Given the description of an element on the screen output the (x, y) to click on. 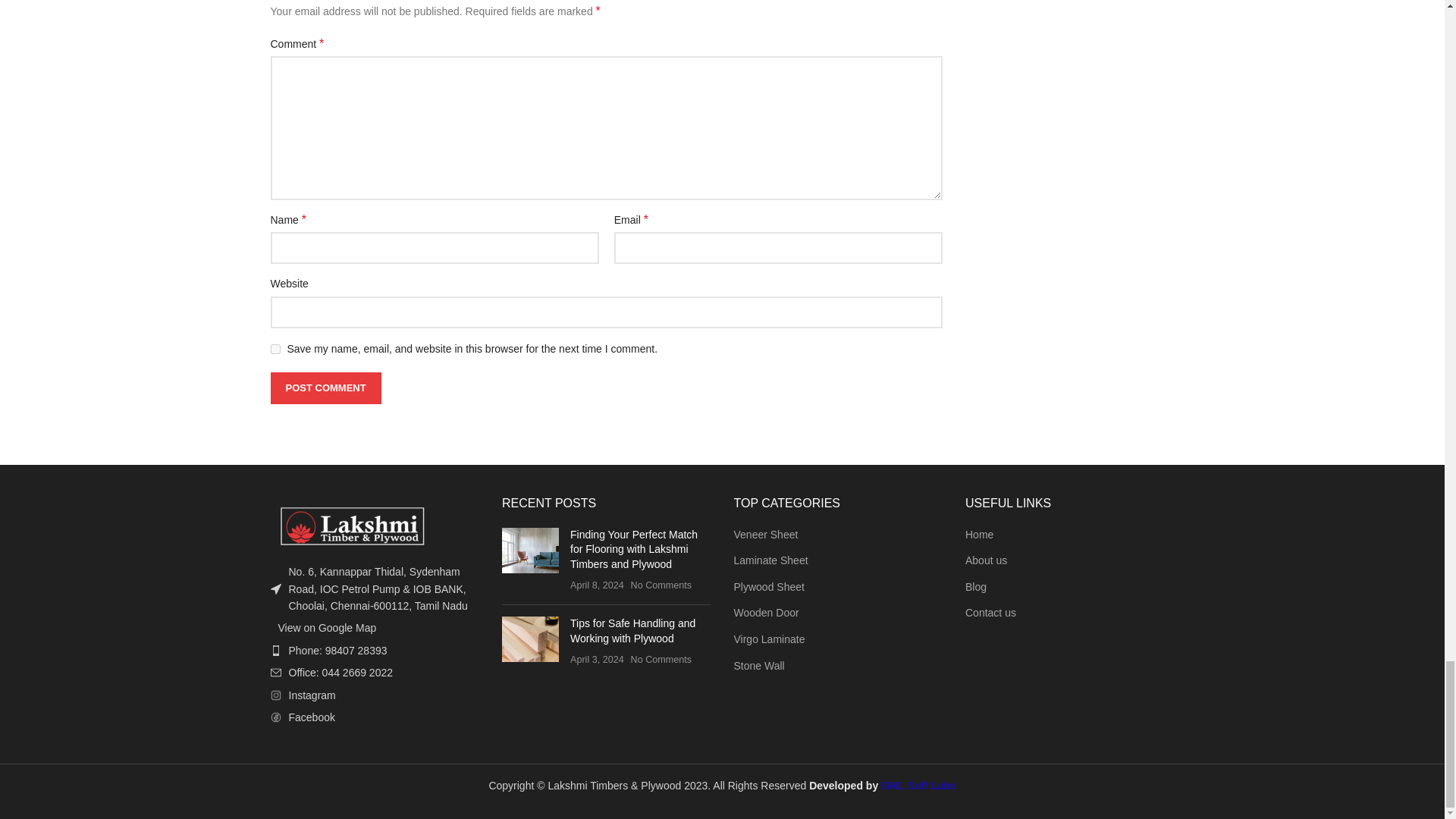
Permalink to Tips for Safe Handling and Working with Plywood (632, 630)
wd-cursor-light (275, 588)
Post Comment (324, 388)
yes (274, 347)
wd-envelope-light (275, 672)
wd-phone-light (275, 650)
